Given the description of an element on the screen output the (x, y) to click on. 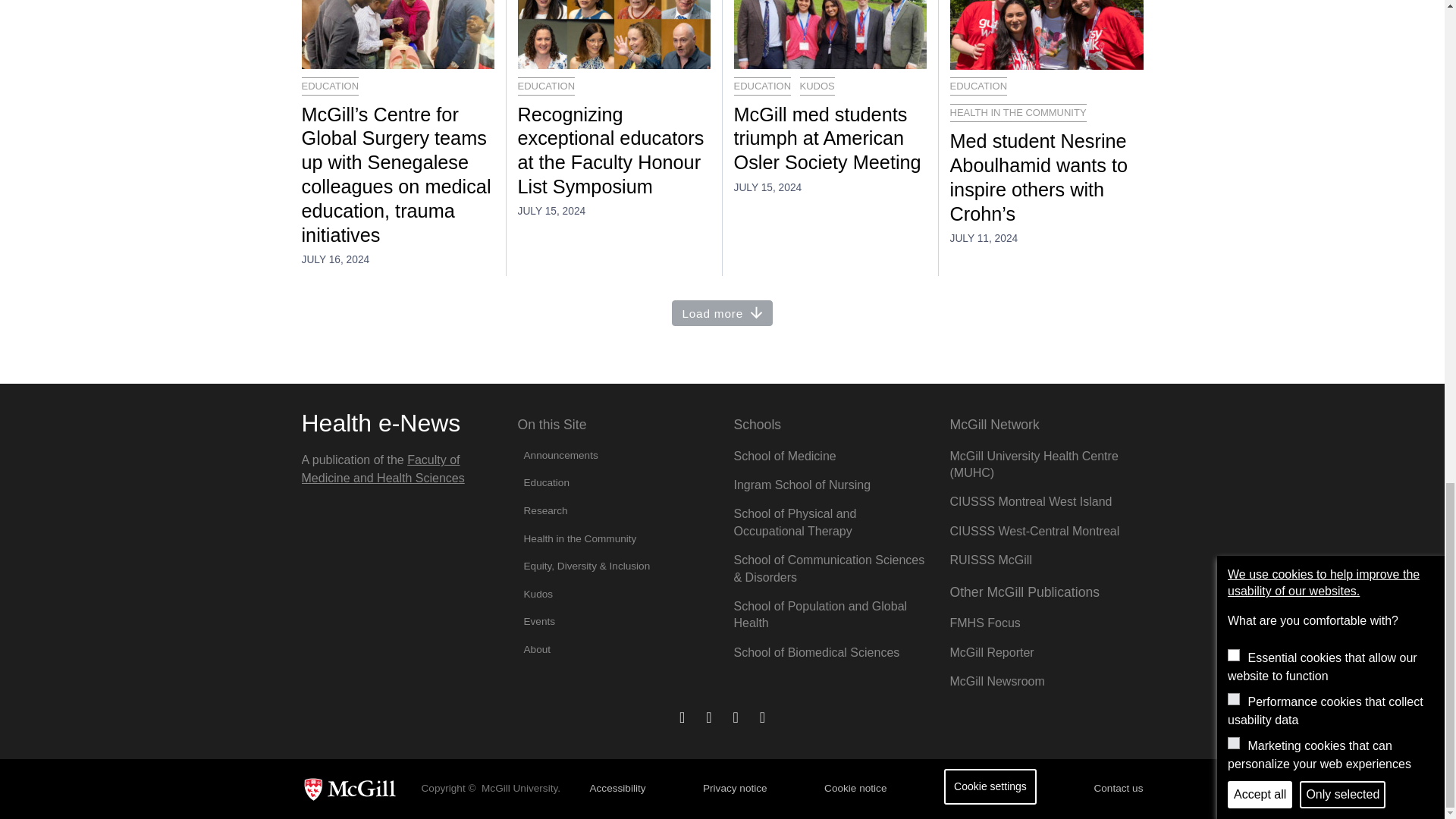
McGill University (355, 788)
Health e-News (381, 422)
KUDOS (816, 85)
HEALTH IN THE COMMUNITY (1017, 113)
Faculty of Medicine and Health Sciences (382, 468)
EDUCATION (545, 85)
Home (381, 422)
Load more (722, 313)
EDUCATION (330, 85)
EDUCATION (978, 85)
EDUCATION (762, 85)
